Given the description of an element on the screen output the (x, y) to click on. 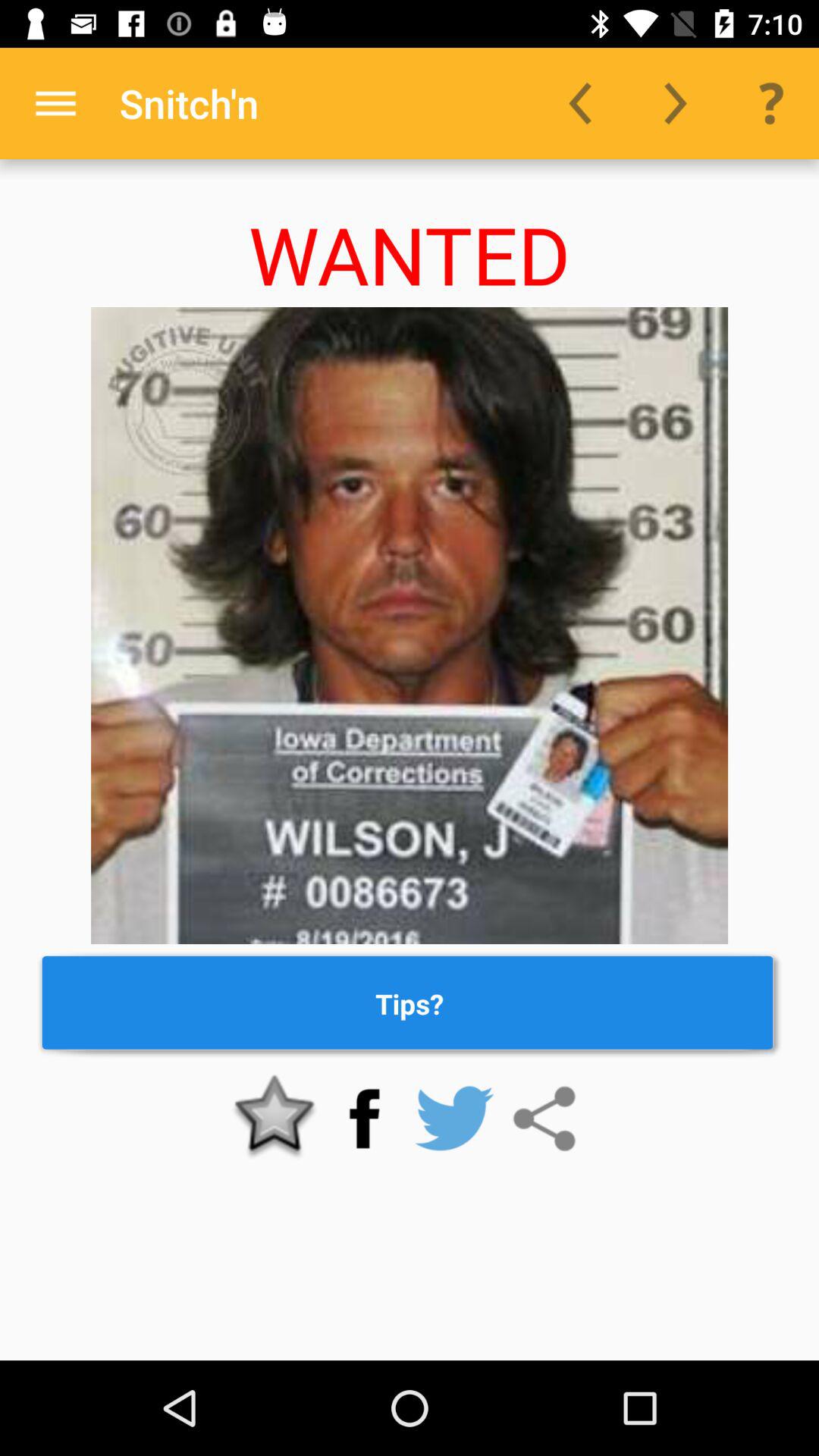
select twitter link (454, 1118)
